Given the description of an element on the screen output the (x, y) to click on. 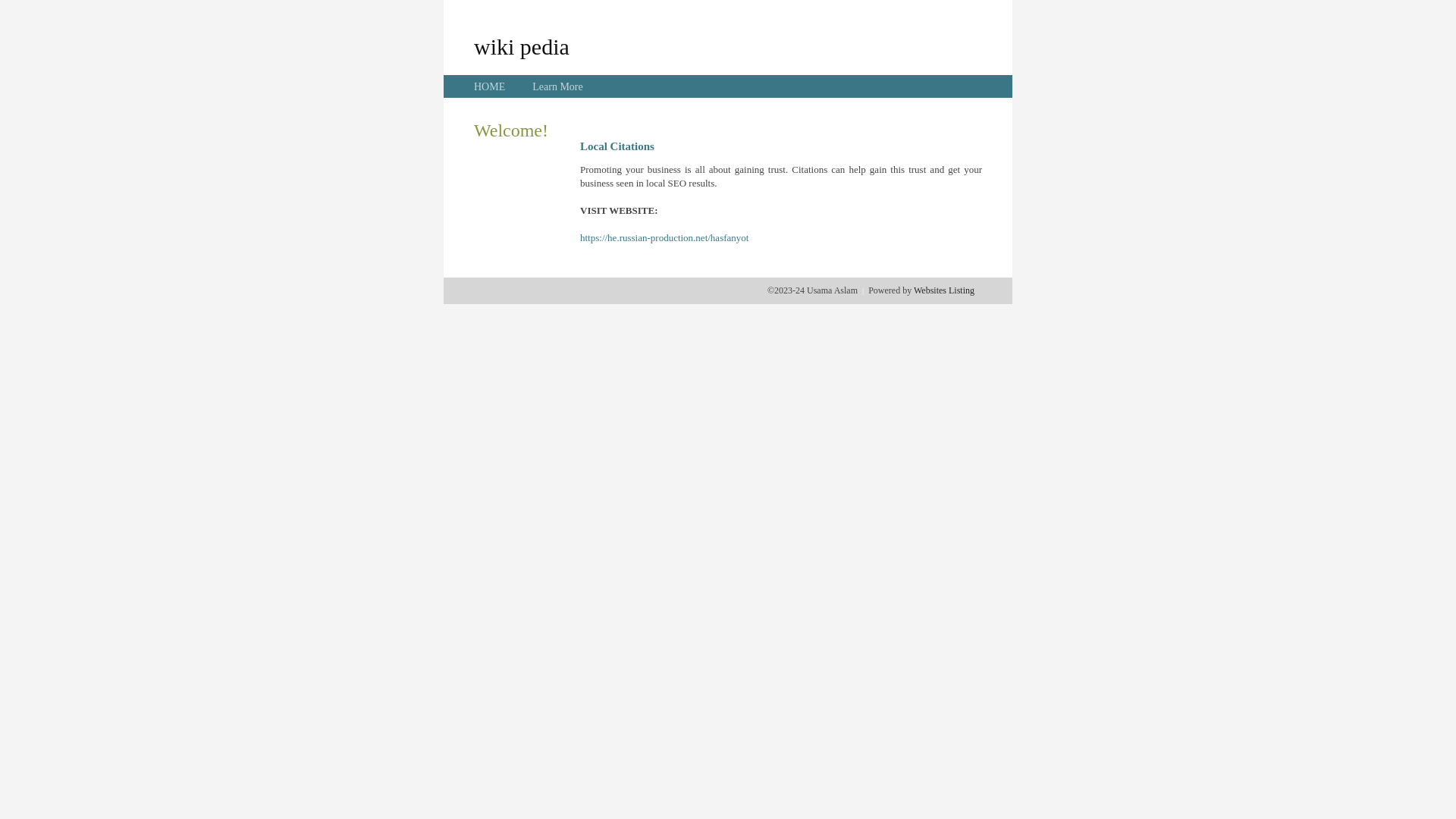
HOME Element type: text (489, 86)
Learn More Element type: text (557, 86)
https://he.russian-production.net/hasfanyot Element type: text (664, 237)
wiki pedia Element type: text (521, 46)
Websites Listing Element type: text (943, 290)
